Given the description of an element on the screen output the (x, y) to click on. 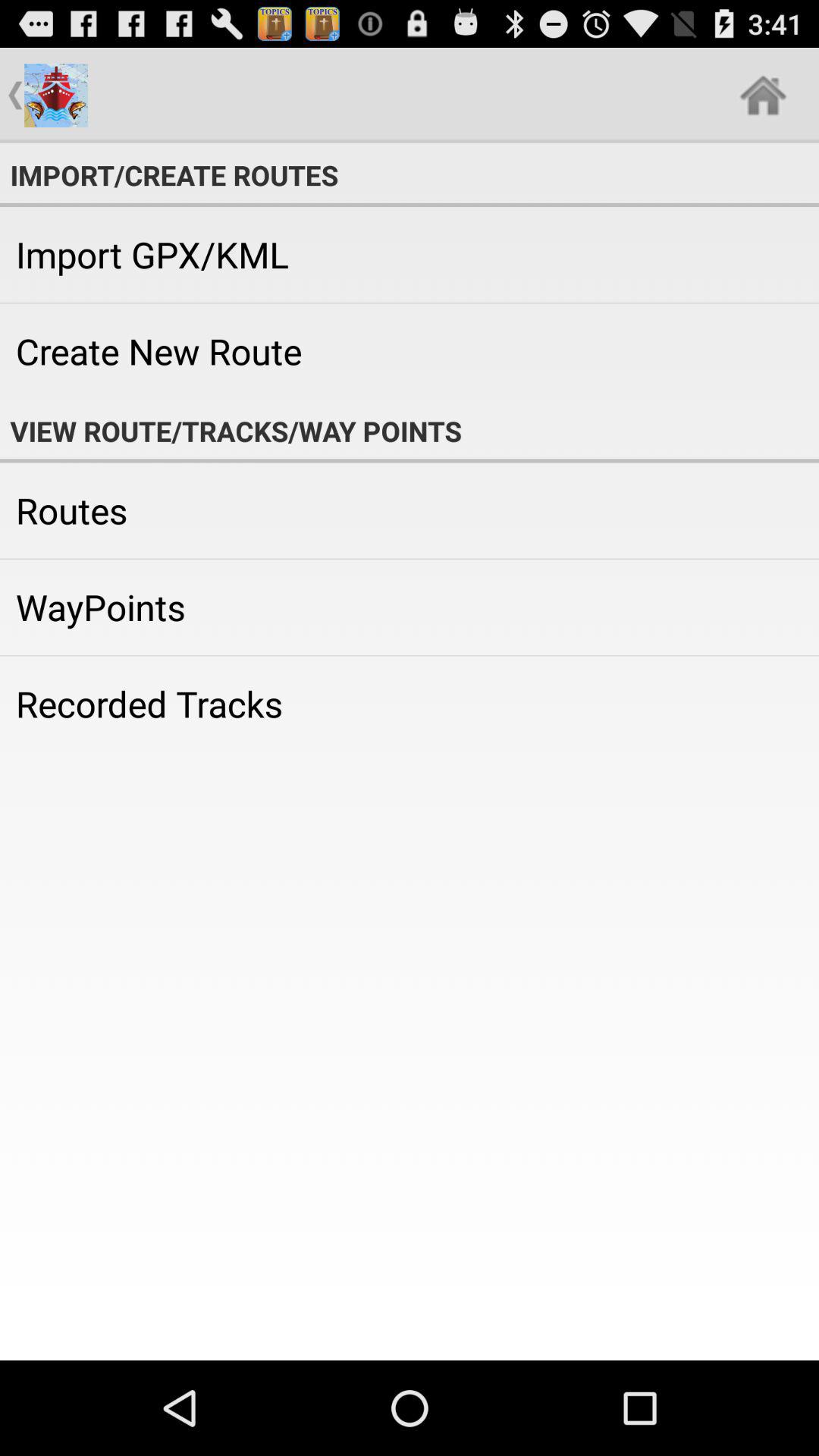
jump to waypoints (409, 607)
